Given the description of an element on the screen output the (x, y) to click on. 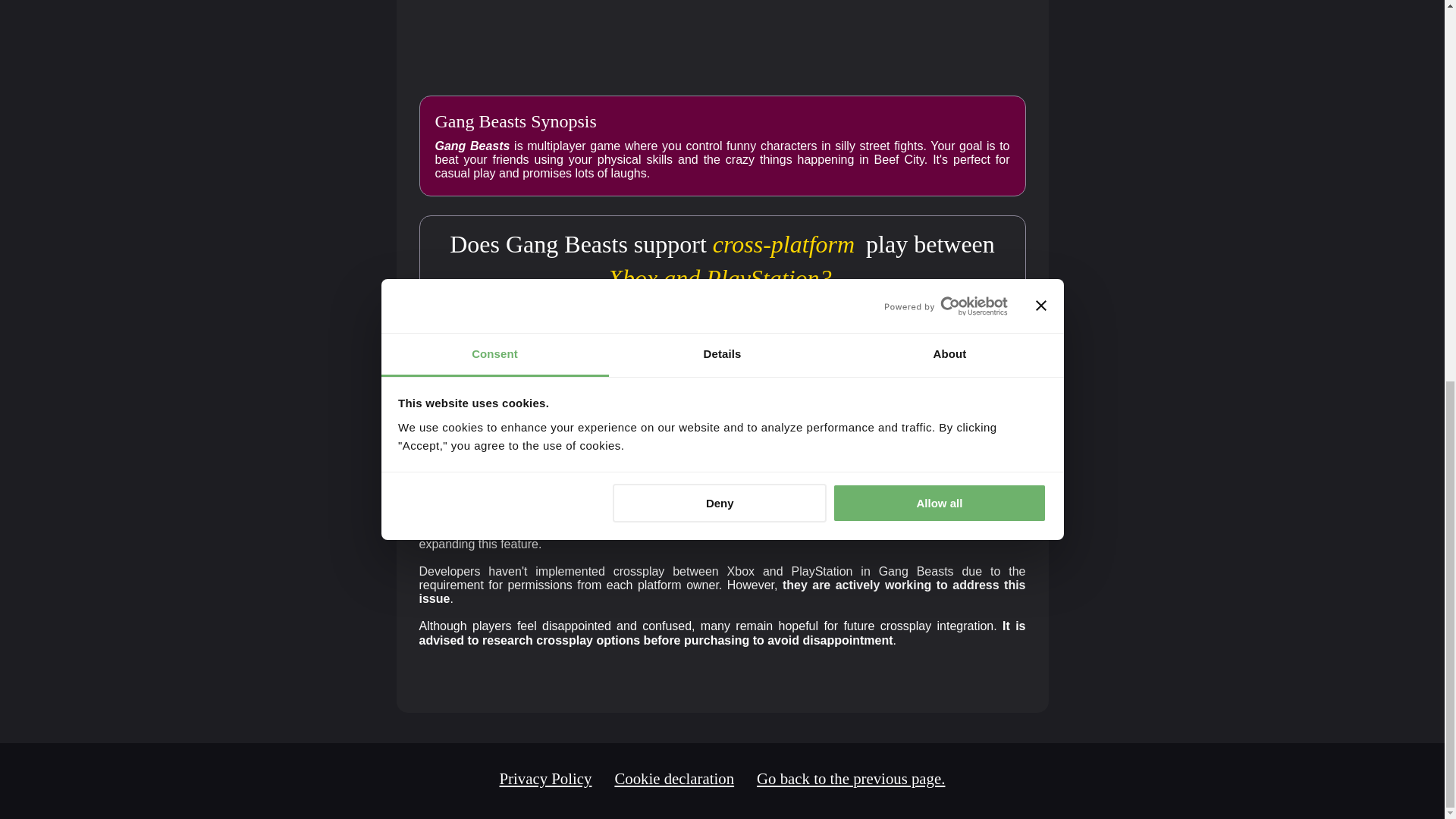
Advertisement (744, 42)
